Given the description of an element on the screen output the (x, y) to click on. 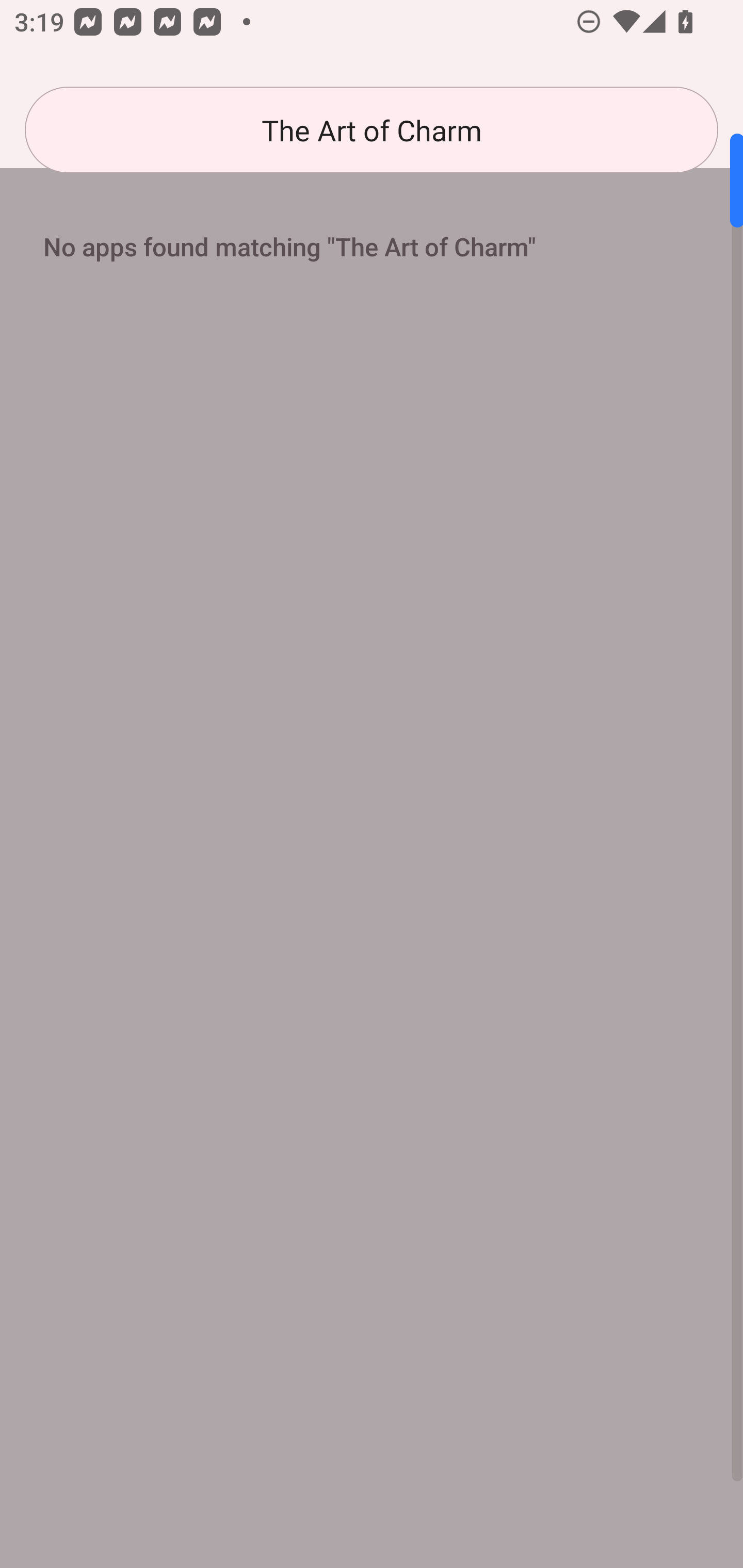
The Art of Charm (371, 130)
